Given the description of an element on the screen output the (x, y) to click on. 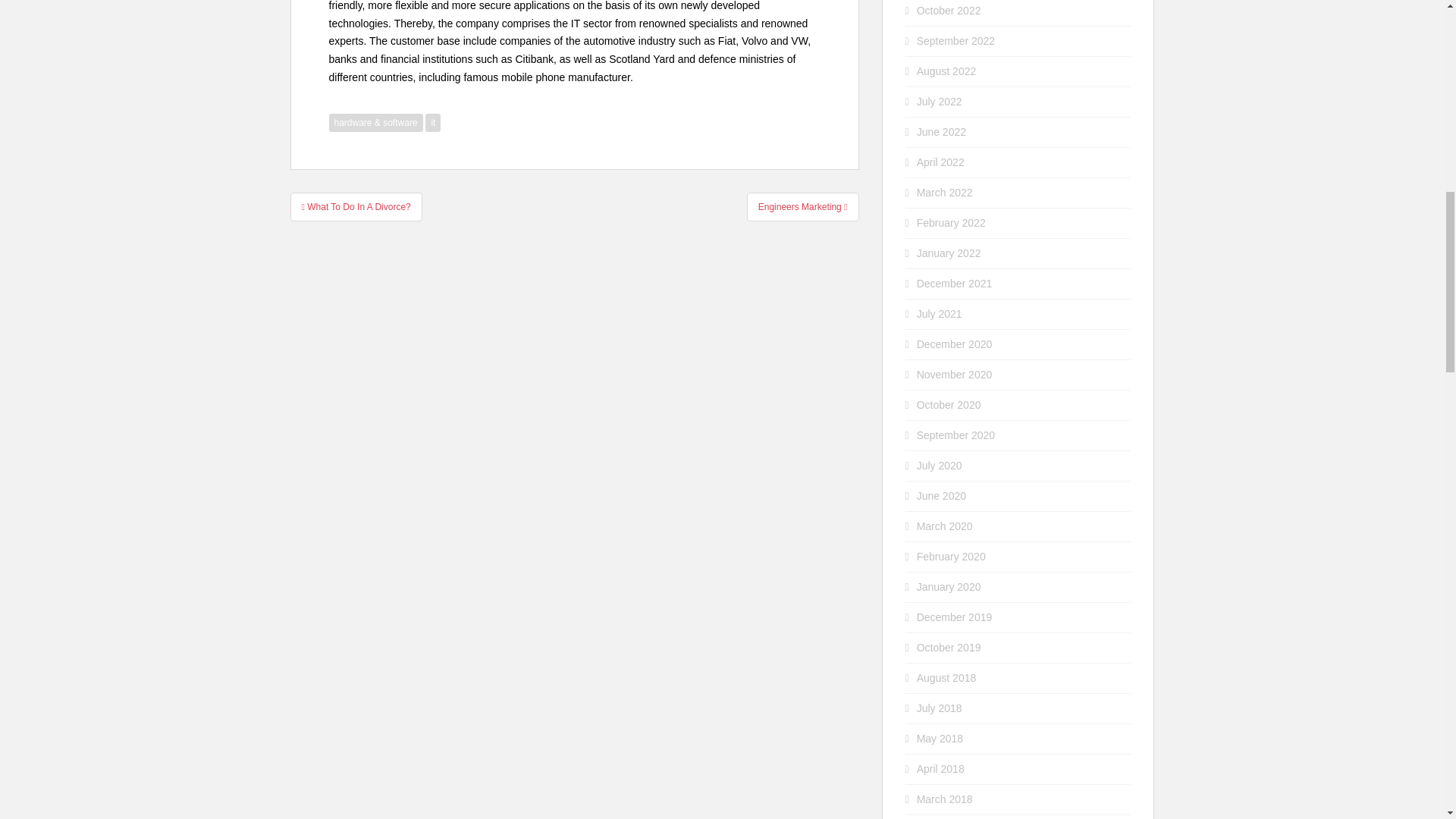
December 2020 (954, 344)
April 2022 (940, 162)
July 2021 (939, 313)
June 2022 (941, 132)
September 2022 (956, 40)
February 2022 (951, 223)
Engineers Marketing (802, 206)
August 2022 (946, 70)
October 2022 (949, 10)
What To Do In A Divorce? (355, 206)
July 2022 (939, 101)
December 2021 (954, 283)
January 2022 (949, 253)
November 2020 (954, 374)
March 2022 (944, 192)
